Given the description of an element on the screen output the (x, y) to click on. 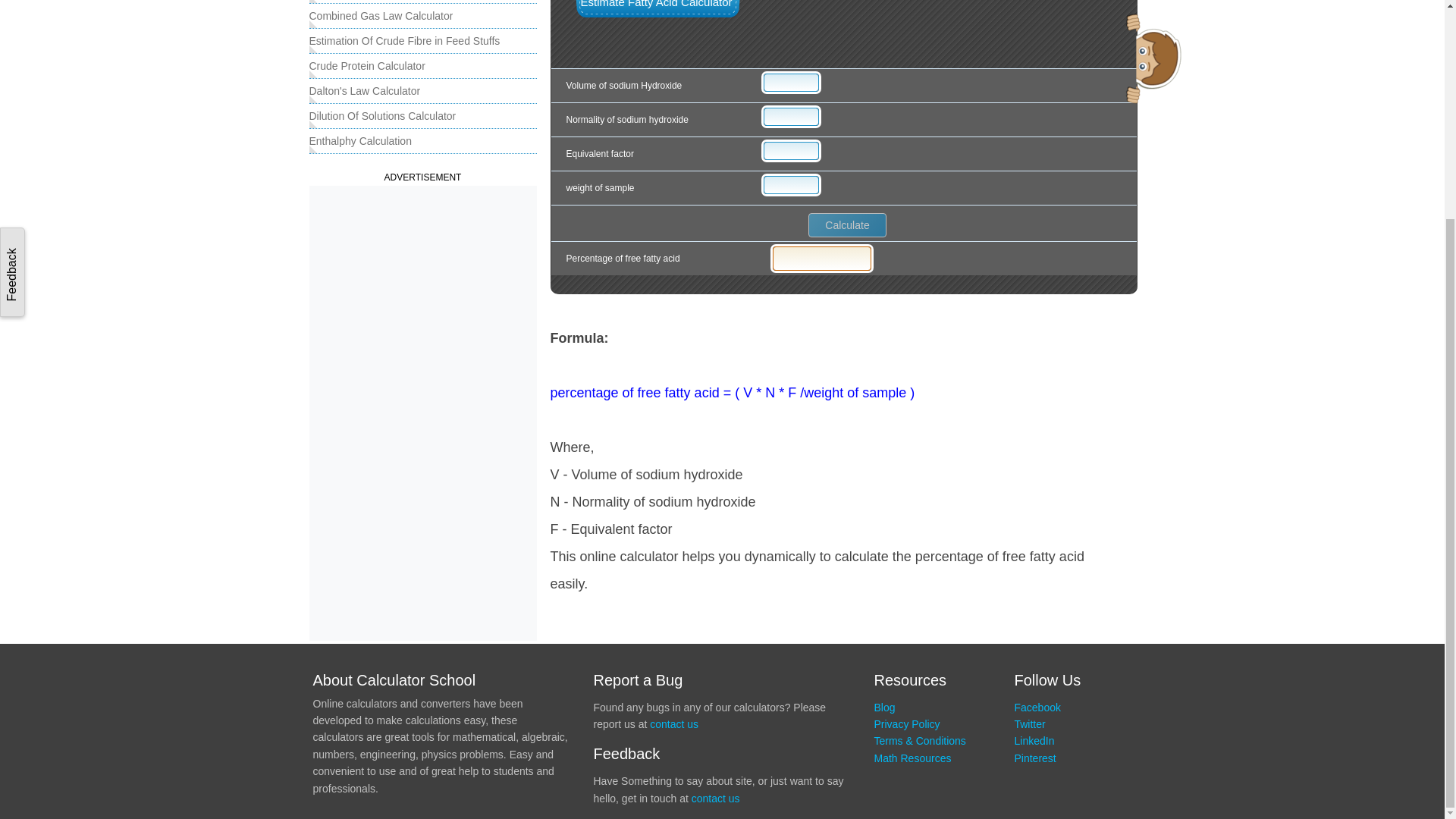
Charles' Law Calculator (364, 1)
Dalton's Law Calculator (364, 90)
Combined Gas Law Calculator (380, 15)
Send Us Feedback (12, 5)
Crude Protein Calculator (366, 65)
Estimation Of Crude Fibre in Feed Stuffs (404, 40)
Calculate (847, 224)
Dilution Of Solutions Calculator (382, 115)
